Given the description of an element on the screen output the (x, y) to click on. 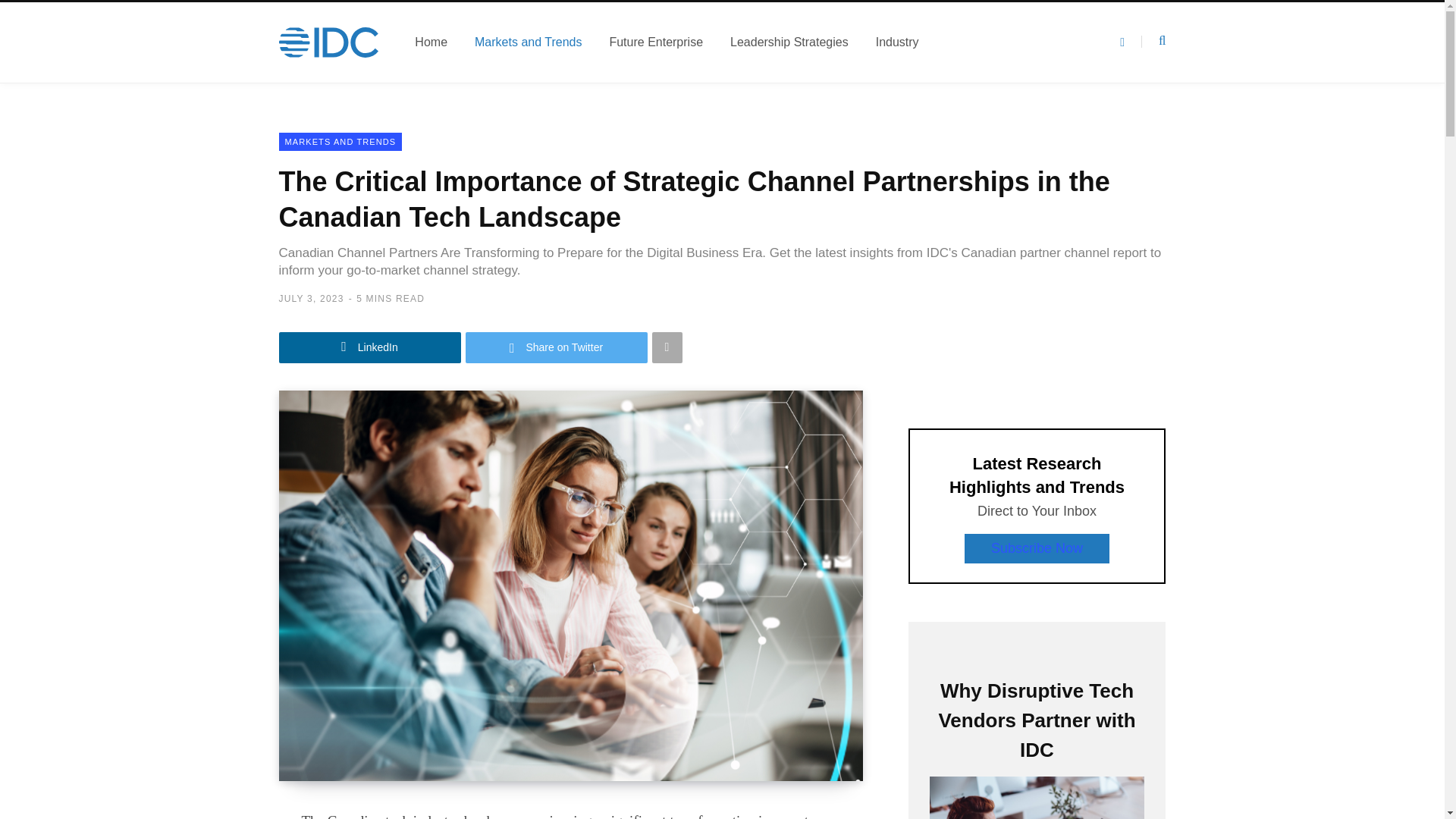
MARKETS AND TRENDS (341, 141)
Future Enterprise (655, 41)
Search (1153, 41)
JULY 3, 2023 (311, 298)
LinkedIn (370, 347)
Visit IDC.com (328, 42)
Home (431, 41)
LinkedIn (370, 347)
Markets and Trends (528, 41)
Share on Twitter (556, 347)
Share on Twitter (556, 347)
Industry (897, 41)
Leadership Strategies (788, 41)
